Given the description of an element on the screen output the (x, y) to click on. 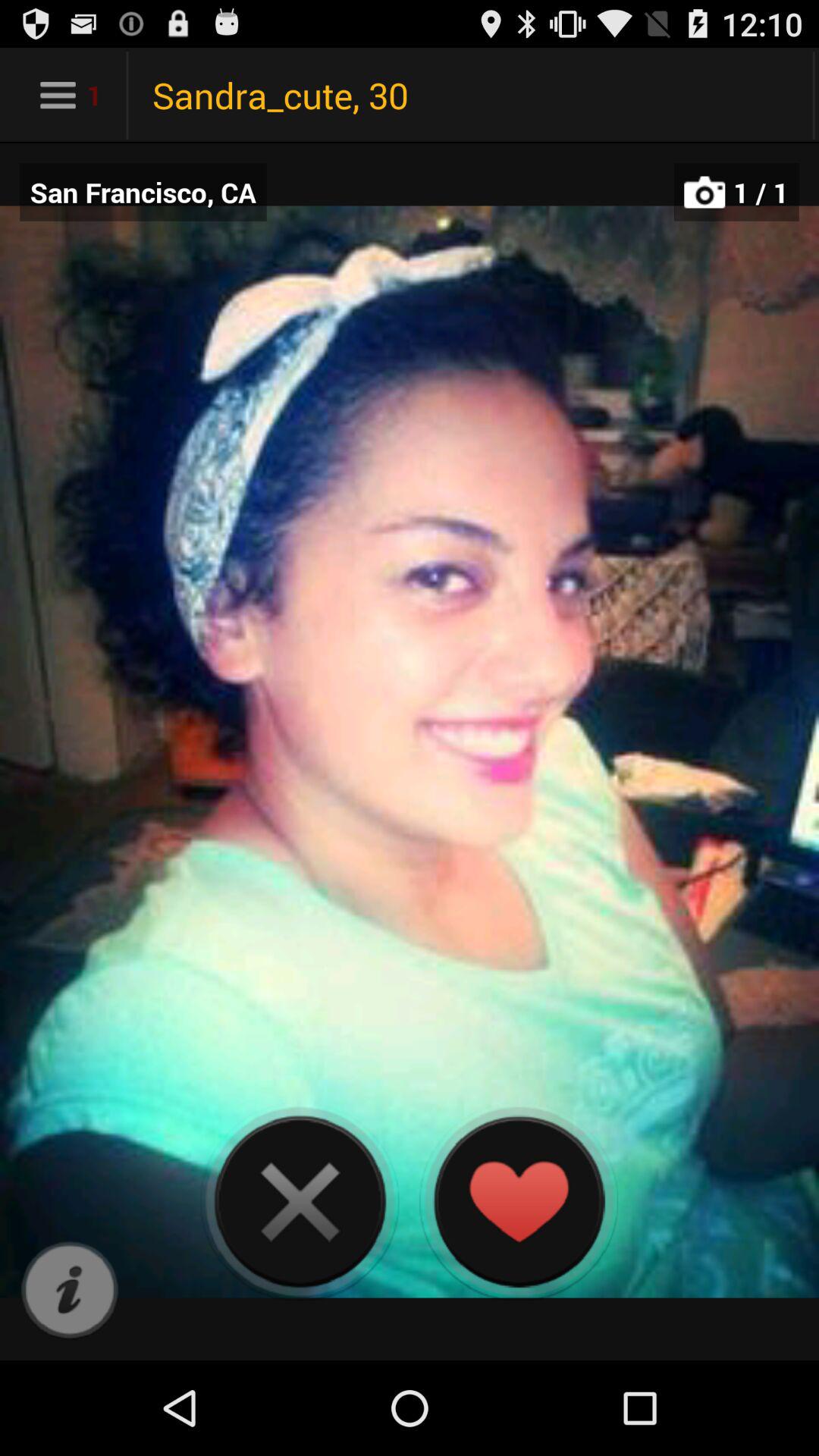
a heart (518, 1200)
